Given the description of an element on the screen output the (x, y) to click on. 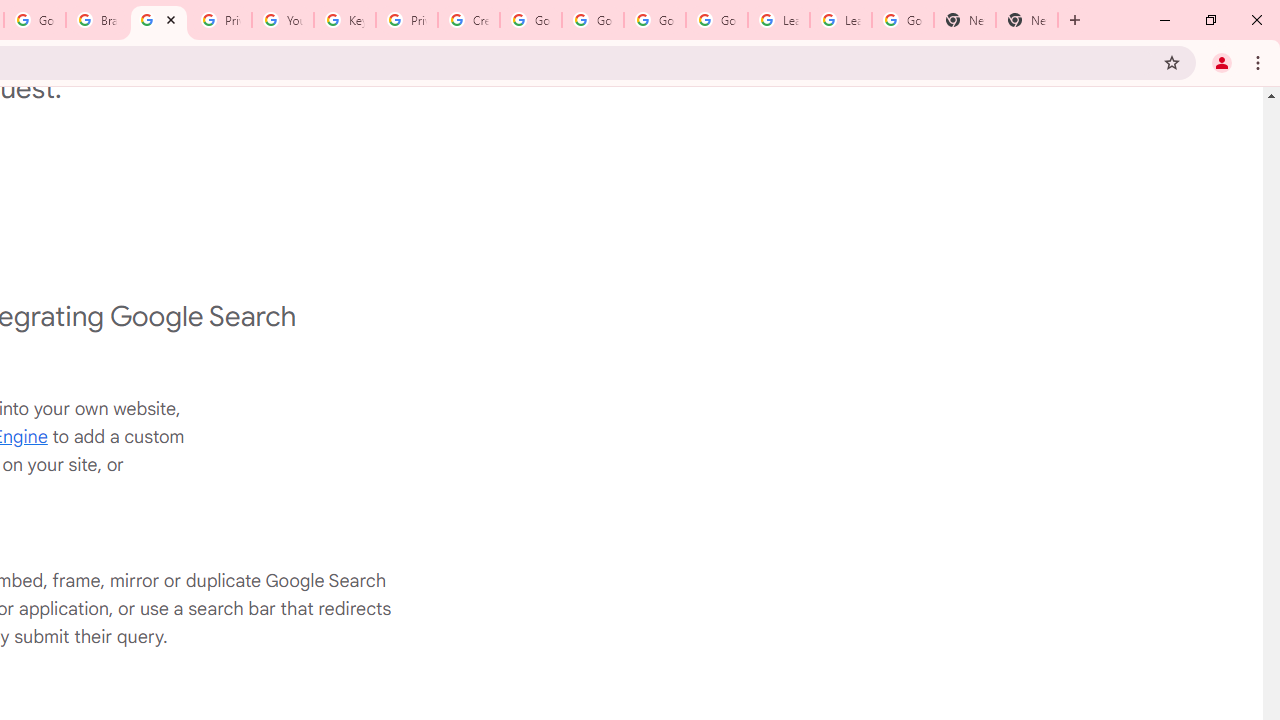
New Tab (964, 20)
New Tab (1026, 20)
Google Account (902, 20)
Google Account Help (530, 20)
Brand Resource Center (96, 20)
